Given the description of an element on the screen output the (x, y) to click on. 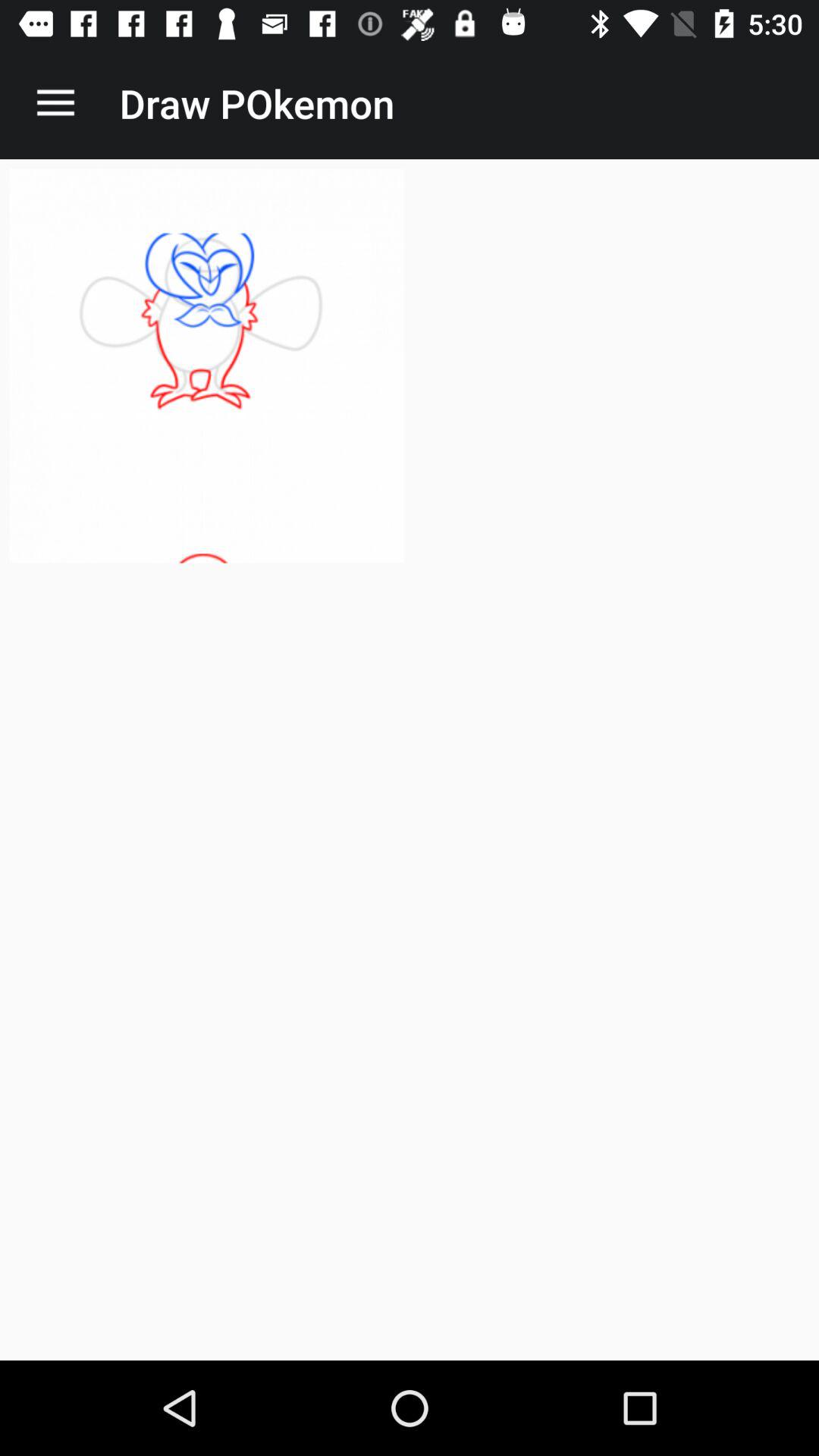
press app to the left of draw pokemon app (55, 103)
